Given the description of an element on the screen output the (x, y) to click on. 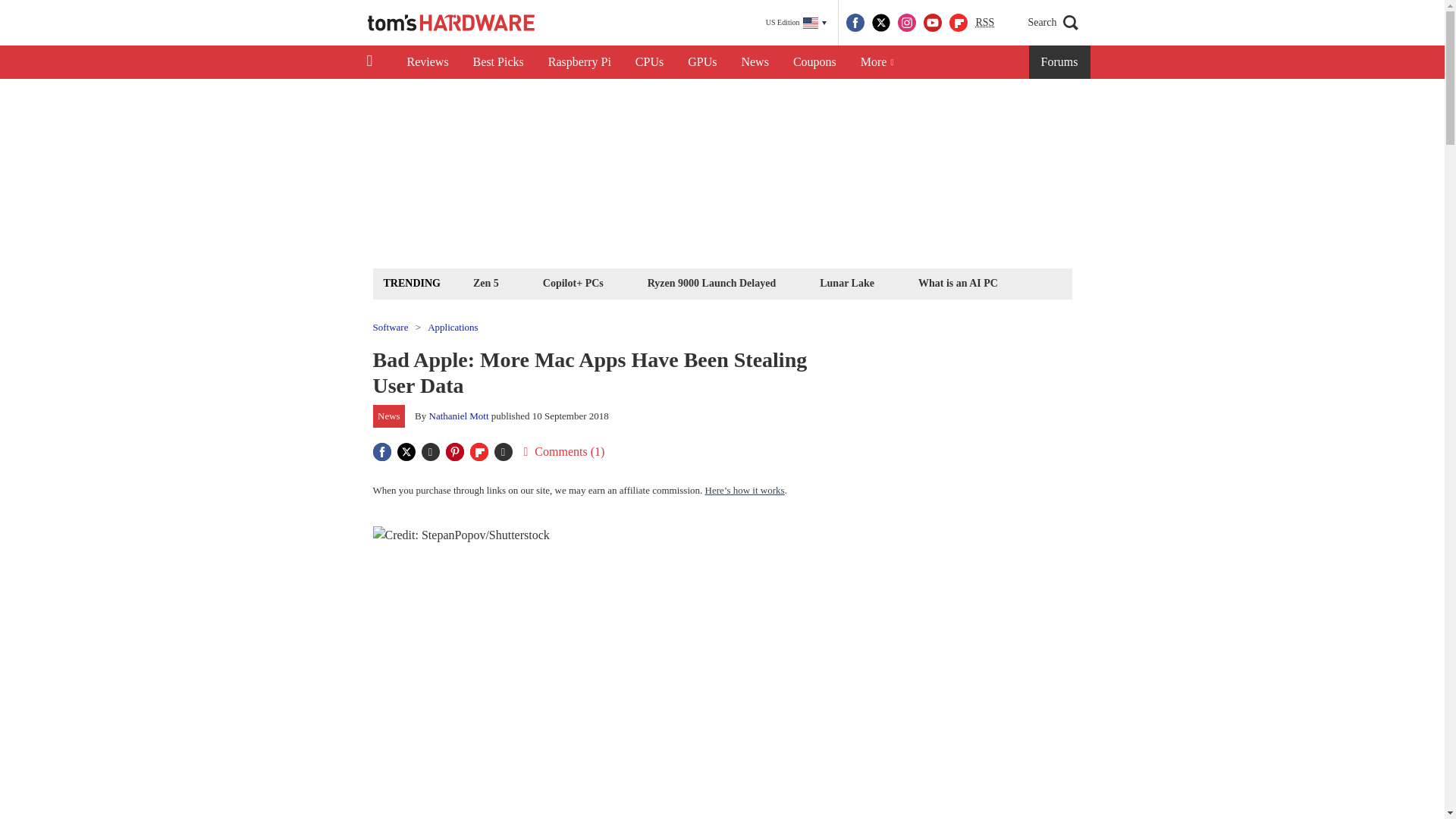
News (754, 61)
Forums (1059, 61)
RSS (984, 22)
Coupons (814, 61)
Reviews (427, 61)
Really Simple Syndication (984, 21)
Zen 5 (485, 282)
Raspberry Pi (579, 61)
GPUs (702, 61)
US Edition (796, 22)
Best Picks (498, 61)
CPUs (649, 61)
